Given the description of an element on the screen output the (x, y) to click on. 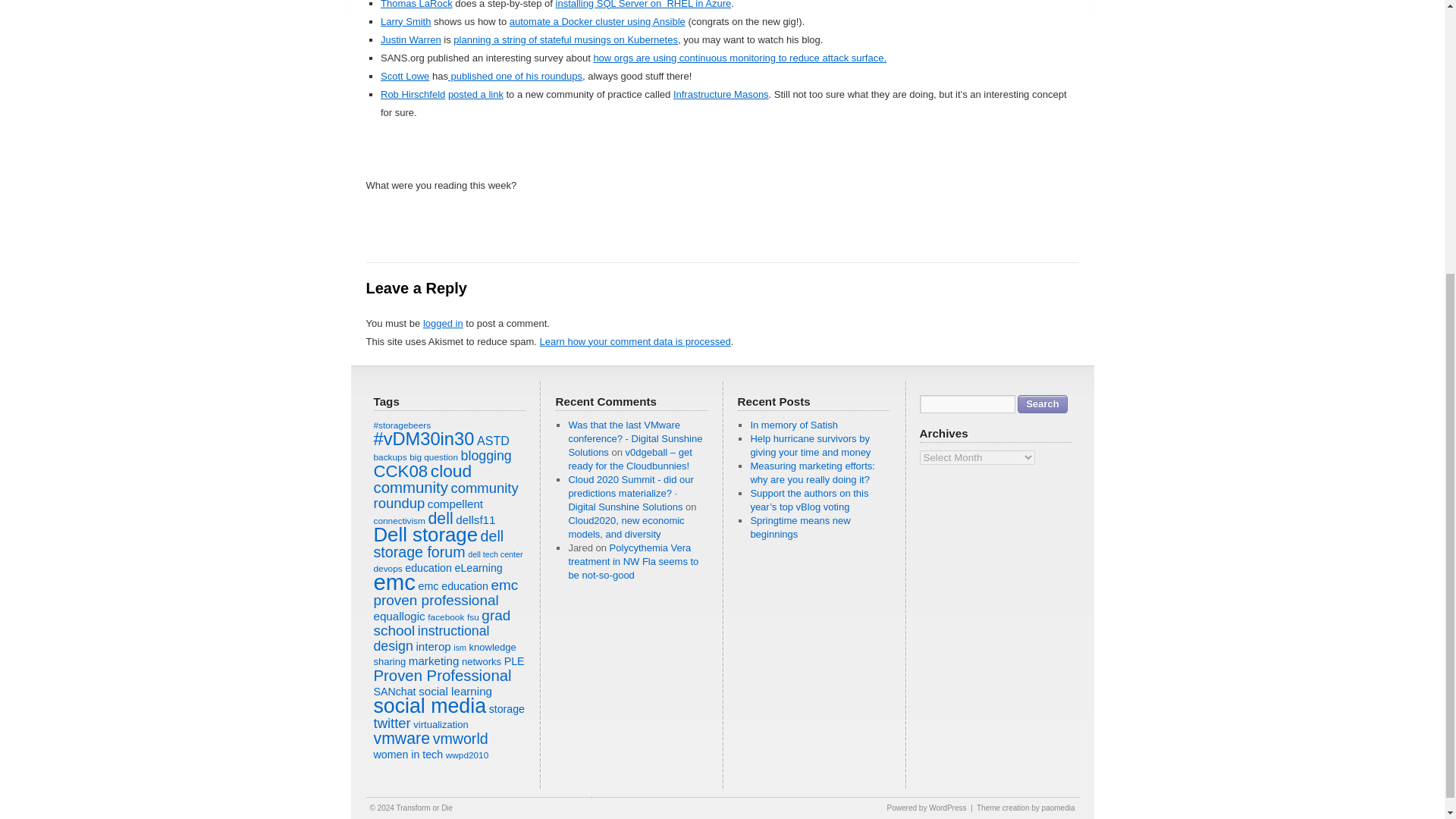
Transform or Die (424, 807)
Search (1042, 403)
installing SQL Server on  RHEL in Azure (644, 4)
ASTD (493, 440)
Larry Smith (405, 21)
posted a link (475, 93)
backups (389, 457)
automate a Docker cluster using Ansible (597, 21)
published one of his roundups (515, 75)
